Given the description of an element on the screen output the (x, y) to click on. 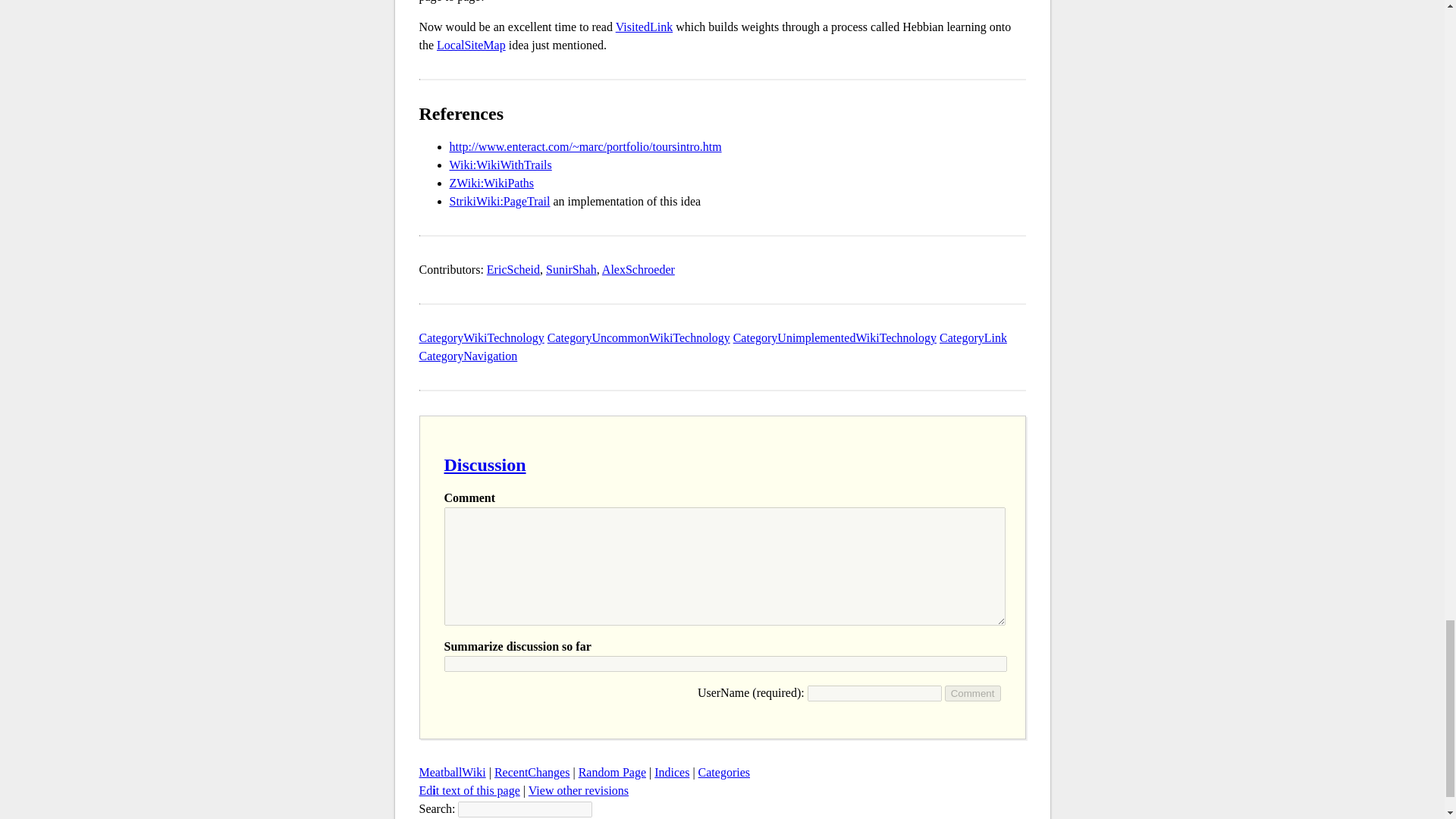
Comment (972, 693)
